Given the description of an element on the screen output the (x, y) to click on. 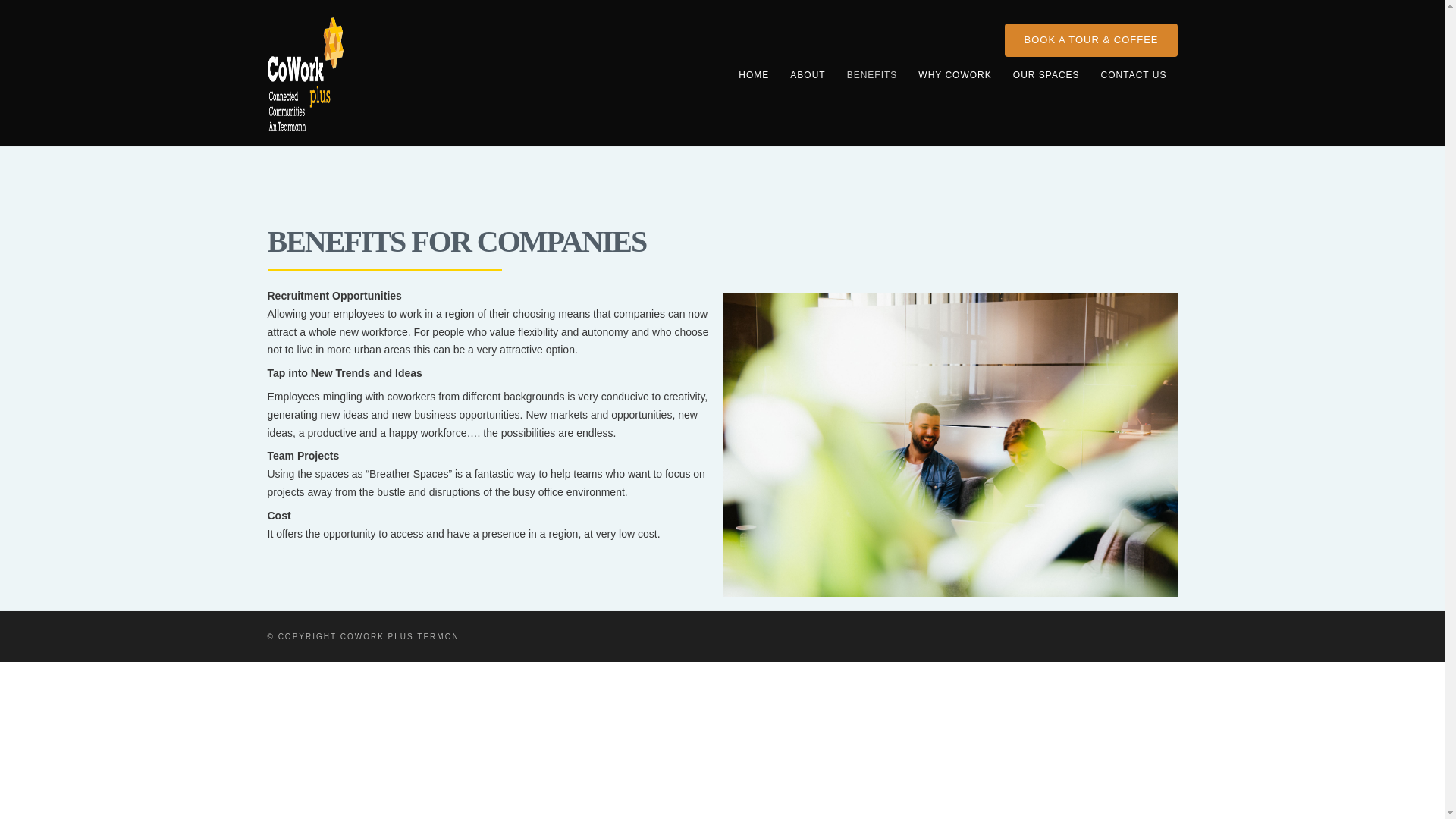
ABOUT (806, 75)
BENEFITS (871, 75)
WHY COWORK (954, 75)
OUR SPACES (1046, 75)
HOME (753, 75)
CONTACT US (1133, 75)
